Given the description of an element on the screen output the (x, y) to click on. 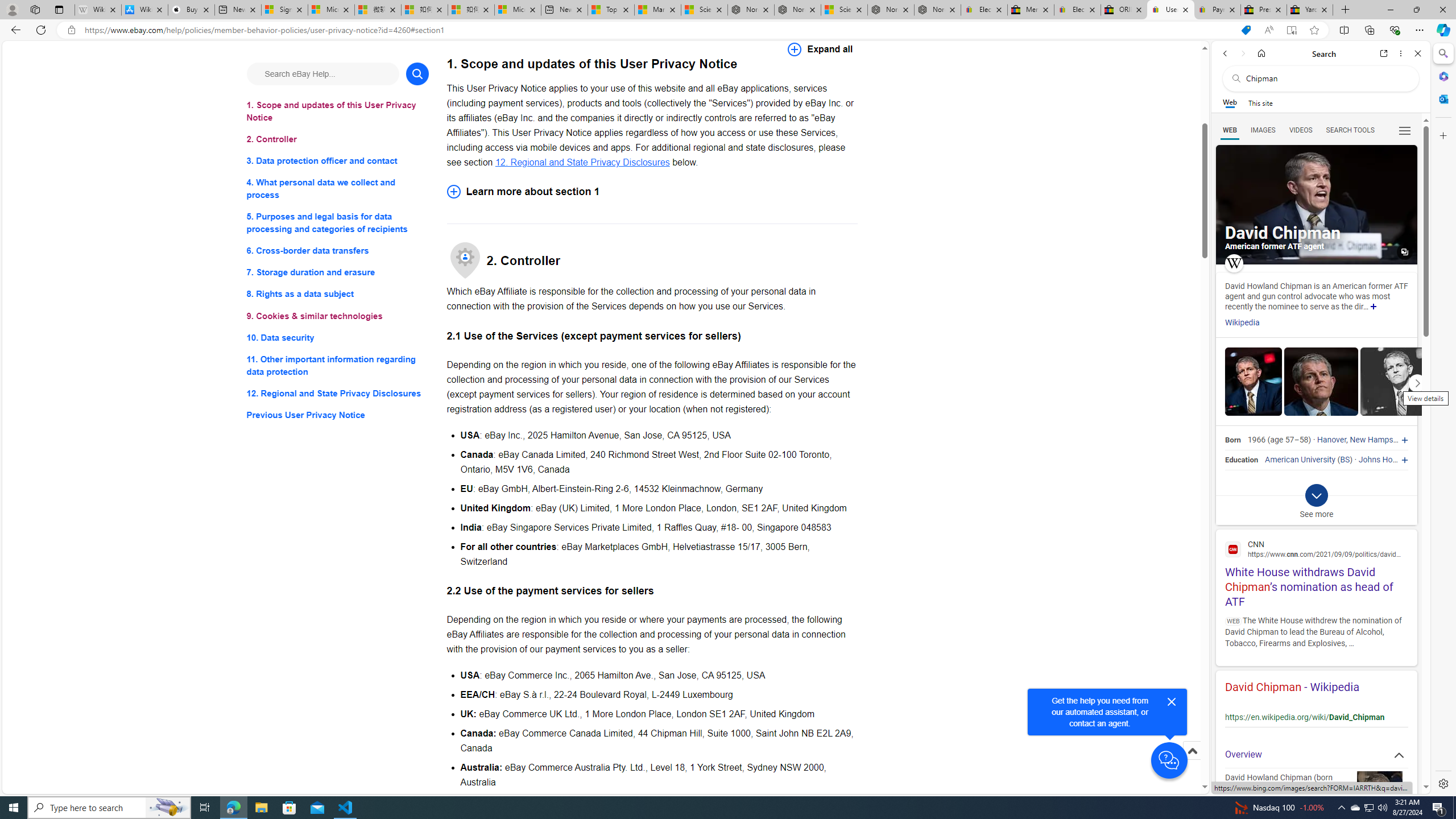
All images (1315, 204)
12. Regional and State Privacy Disclosures (337, 392)
Born (1232, 439)
